Given the description of an element on the screen output the (x, y) to click on. 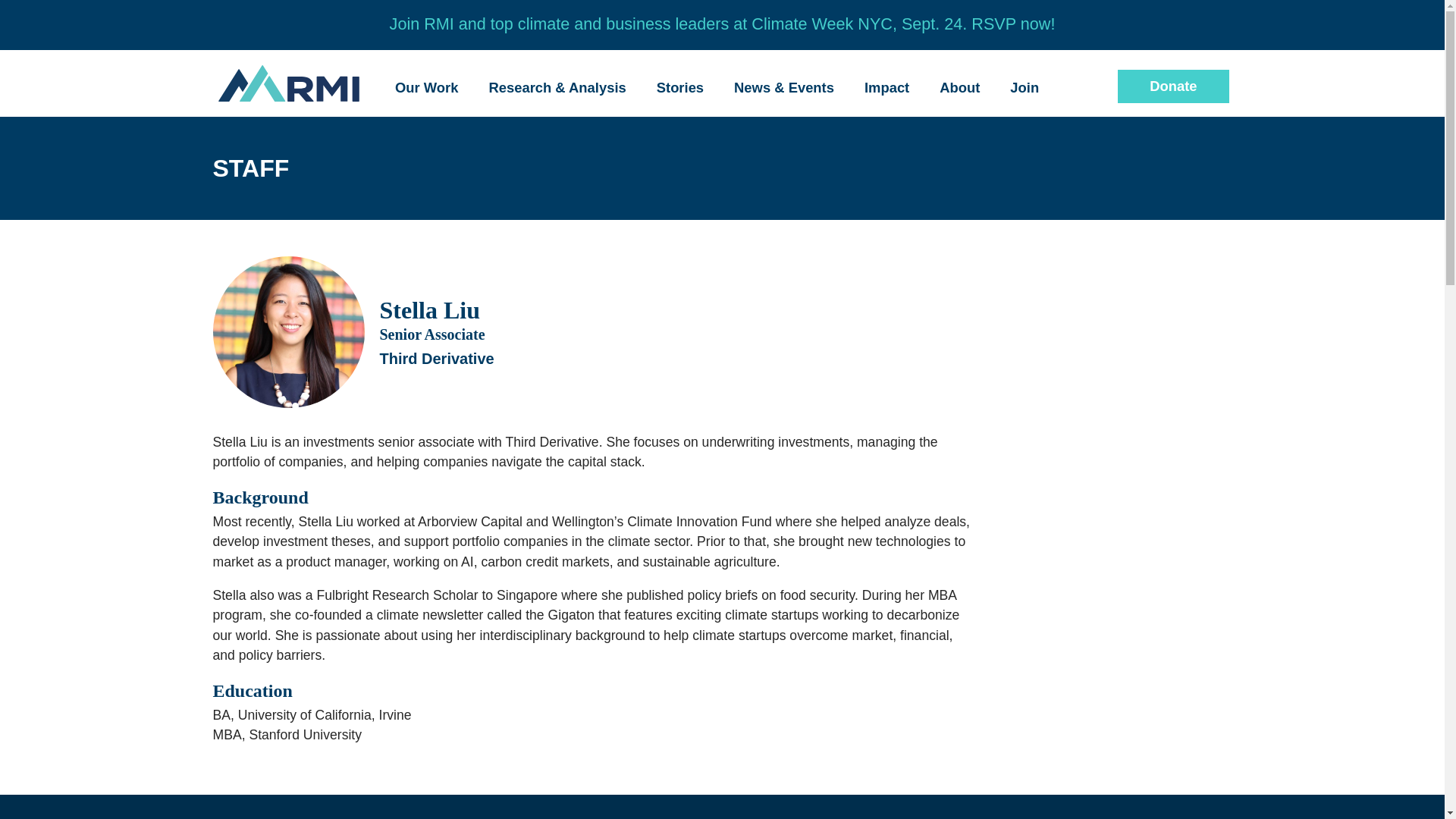
Our Work (426, 87)
Impact (887, 87)
Stories (680, 87)
